Given the description of an element on the screen output the (x, y) to click on. 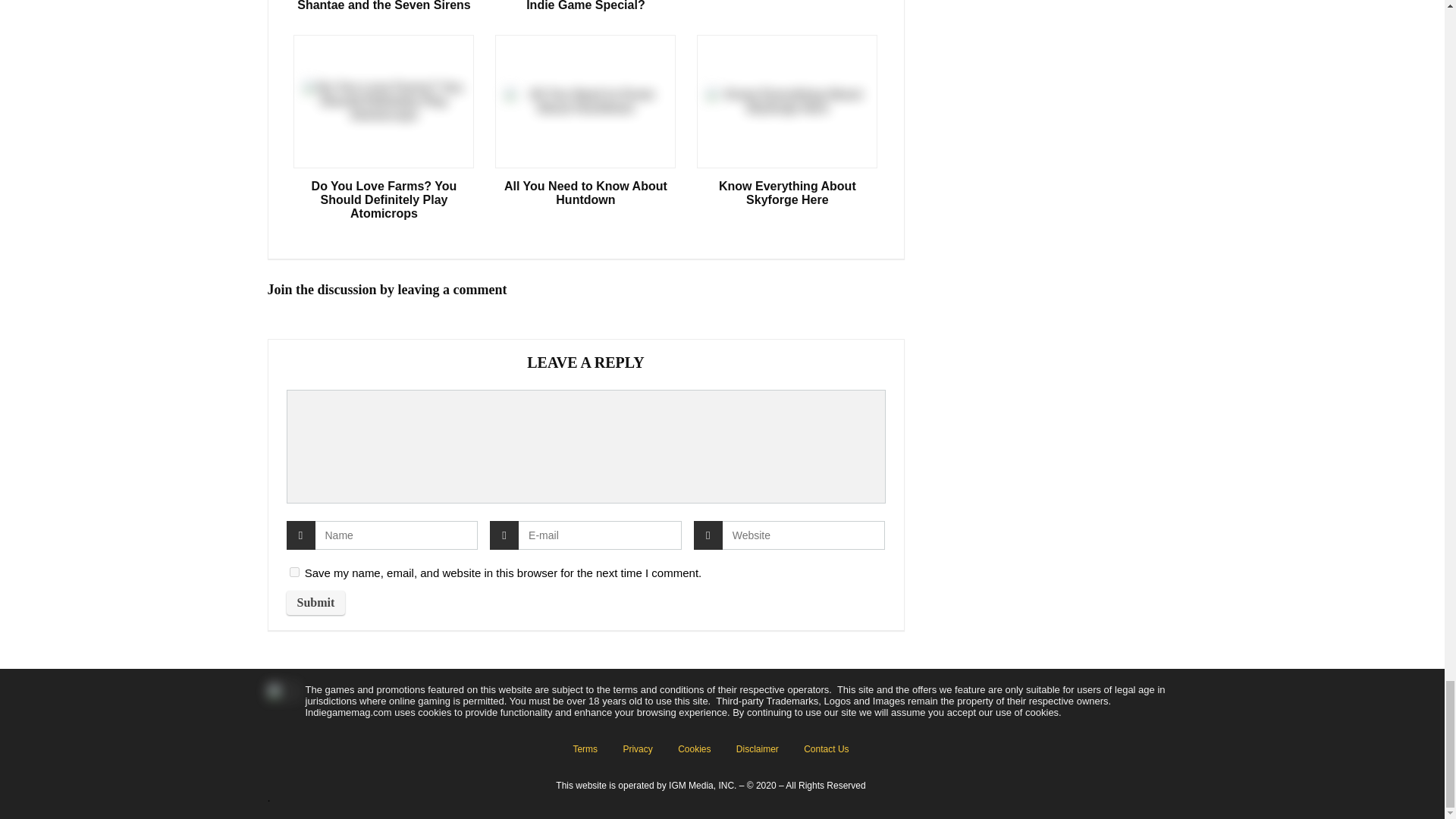
All You Need to Know About Huntdown (585, 193)
What You Should Know About Shantae and the Seven Sirens (384, 6)
Submit (316, 602)
Indivisible: What Makes This Indie Game Special? (585, 6)
Submit (316, 602)
Indivisible: What Makes This Indie Game Special? (585, 6)
Do You Love Farms? You Should Definitely Play Atomicrops (384, 199)
yes (294, 572)
Know Everything About Skyforge Here (787, 193)
Do You Love Farms? You Should Definitely Play Atomicrops (384, 199)
What You Should Know About Shantae and the Seven Sirens (384, 6)
All You Need to Know About Huntdown (585, 193)
Know Everything About Skyforge Here (787, 193)
